Given the description of an element on the screen output the (x, y) to click on. 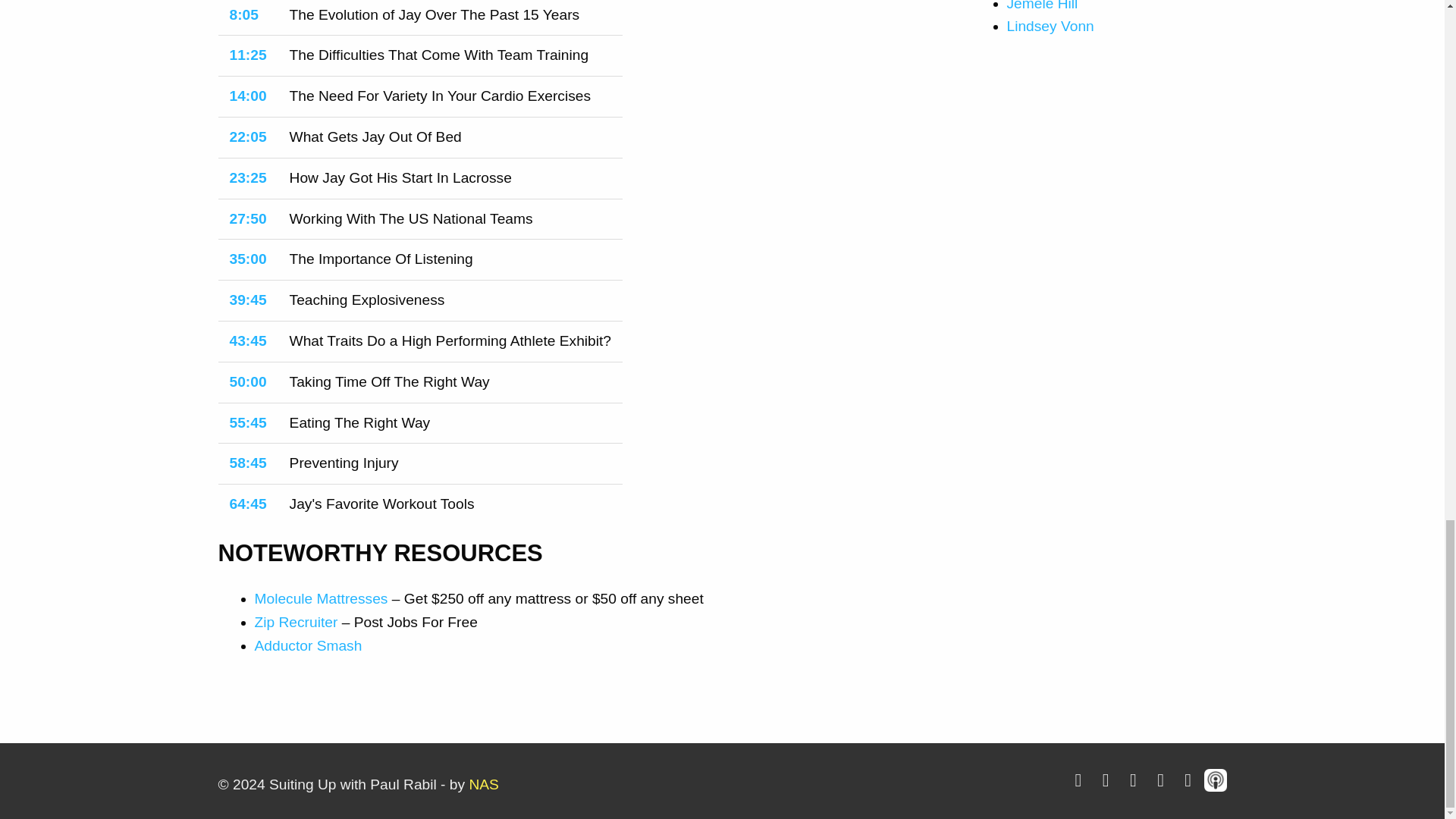
Lindsey Vonn (1050, 26)
Adductor Smash (308, 645)
Molecule Mattresses (321, 598)
NAS (482, 784)
Zip Recruiter (295, 621)
Jemele Hill (1042, 5)
